Given the description of an element on the screen output the (x, y) to click on. 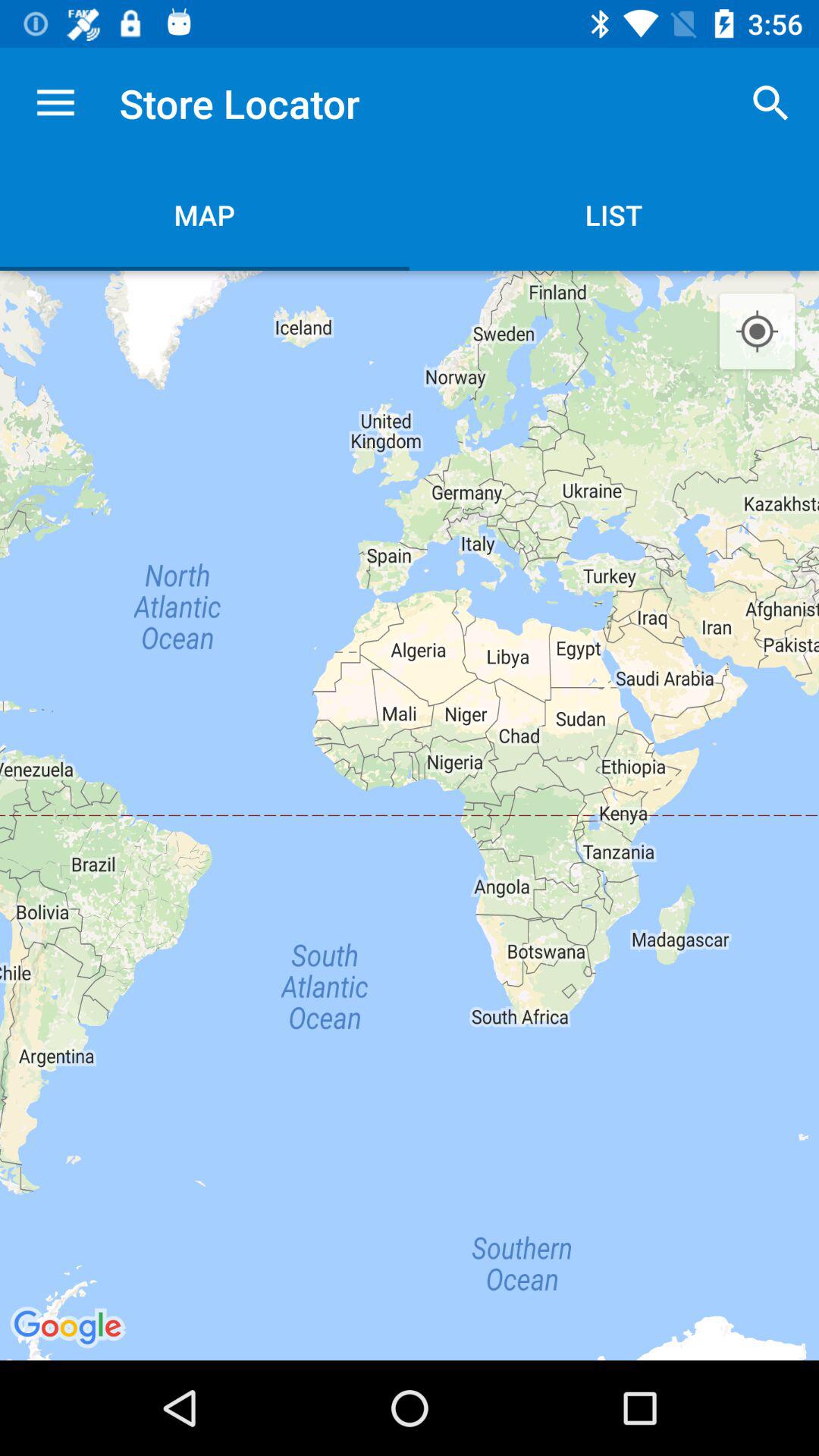
click the app to the right of store locator icon (771, 103)
